Given the description of an element on the screen output the (x, y) to click on. 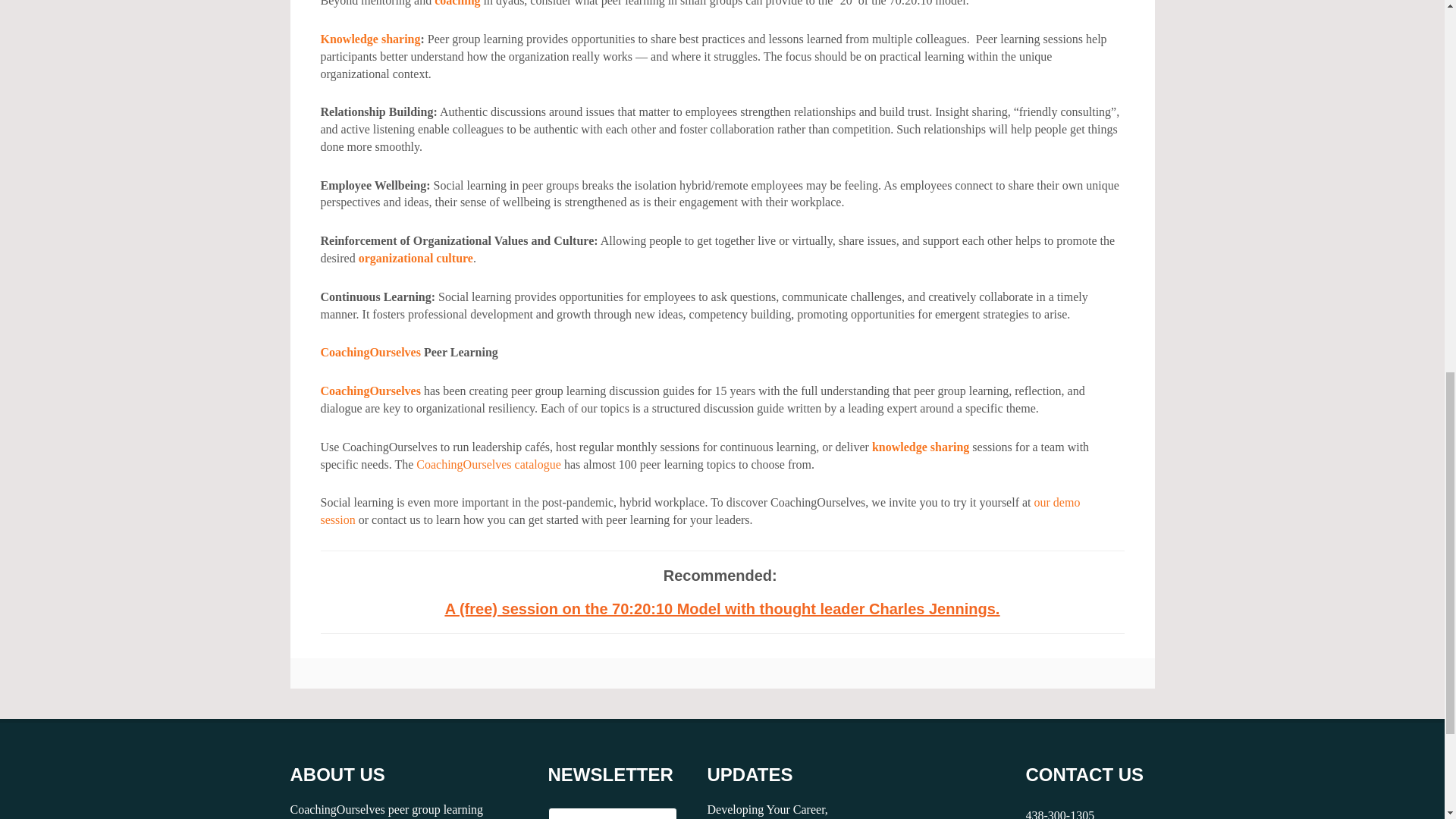
our demo session (700, 511)
Knowledge Sharing for Innovation (370, 38)
knowledge sharing (920, 446)
Developing Your Career, Creating Your Future (766, 811)
Knowledge Sharing for Innovation (920, 446)
CoachingOurselves catalogue (488, 463)
Knowledge sharing (370, 38)
CoachingOurselves (370, 351)
Home (370, 390)
Home (370, 351)
